Given the description of an element on the screen output the (x, y) to click on. 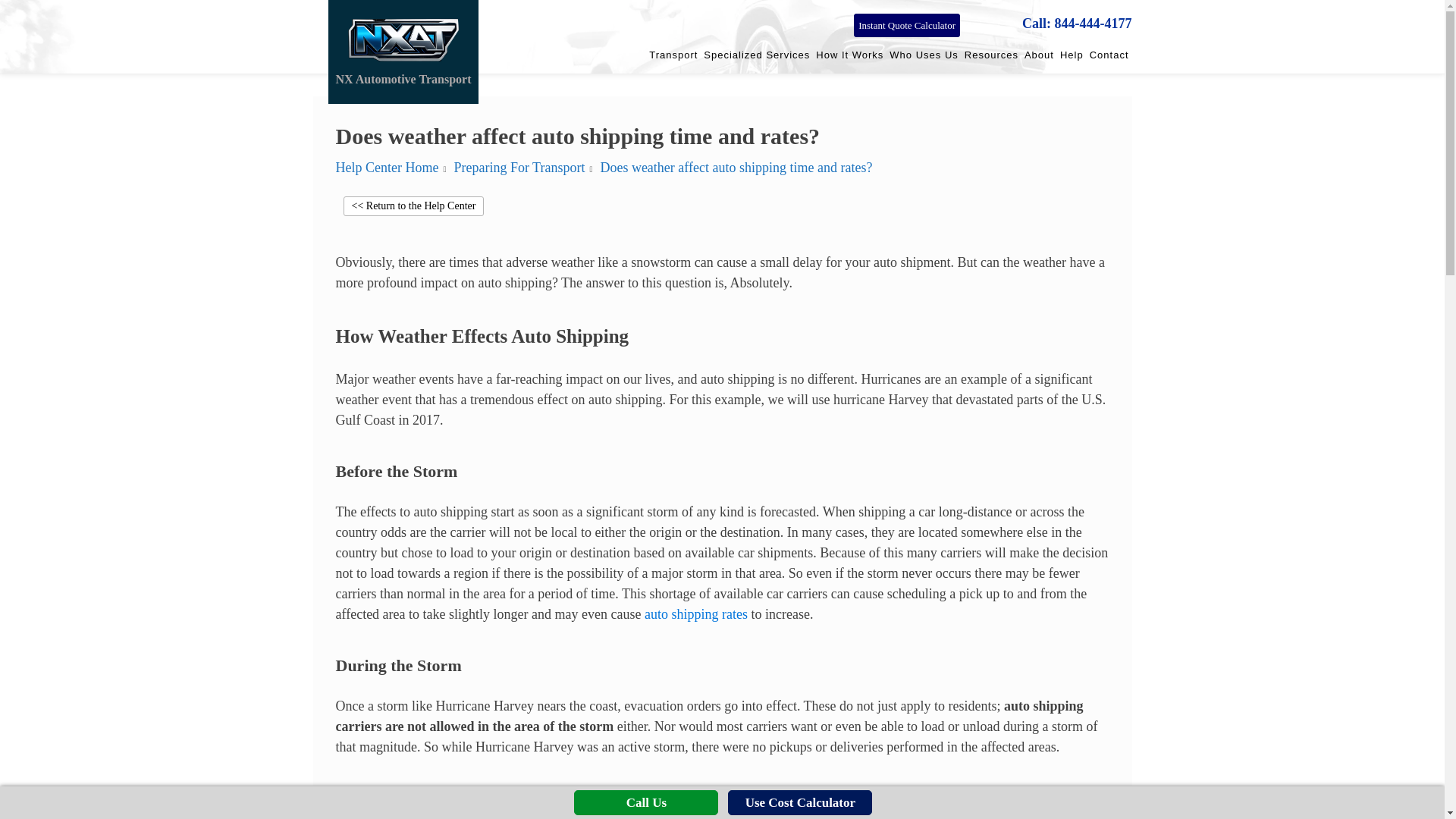
Help Center Home (386, 167)
Call: 844-444-4177 (1076, 23)
Transport (673, 51)
Resources (991, 51)
Specialized Services (756, 51)
Who Uses Us (923, 51)
Instant Quote Calculator (906, 25)
Preparing For Transport (518, 167)
Contact (1109, 51)
How It Works (849, 51)
auto shipping rates (696, 613)
Help (1071, 51)
NX Automotive Transport (403, 52)
About (1039, 51)
